Given the description of an element on the screen output the (x, y) to click on. 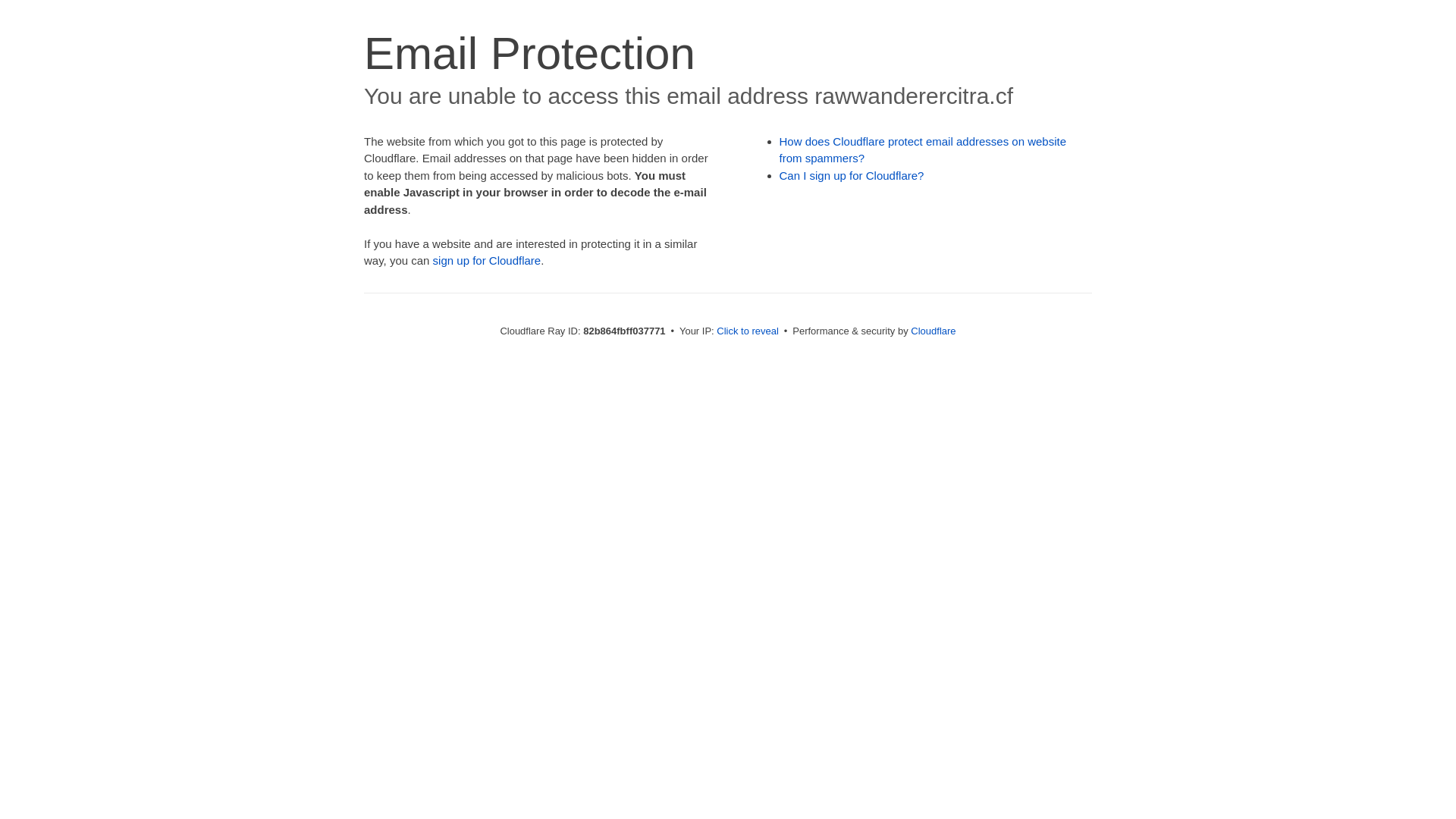
Cloudflare Element type: text (932, 330)
sign up for Cloudflare Element type: text (487, 260)
Can I sign up for Cloudflare? Element type: text (851, 175)
Click to reveal Element type: text (747, 330)
